Given the description of an element on the screen output the (x, y) to click on. 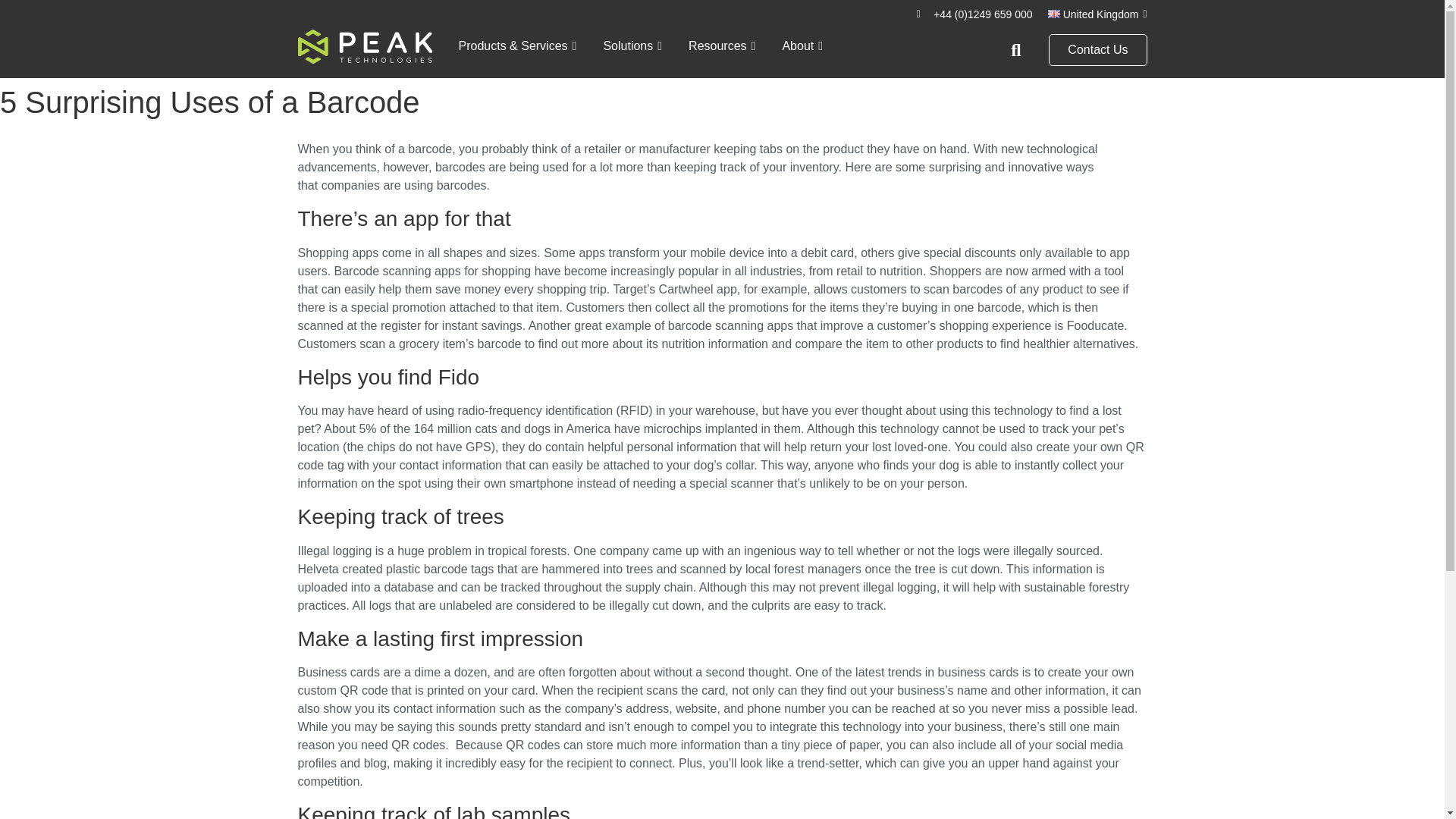
United Kingdom (1097, 14)
